Given the description of an element on the screen output the (x, y) to click on. 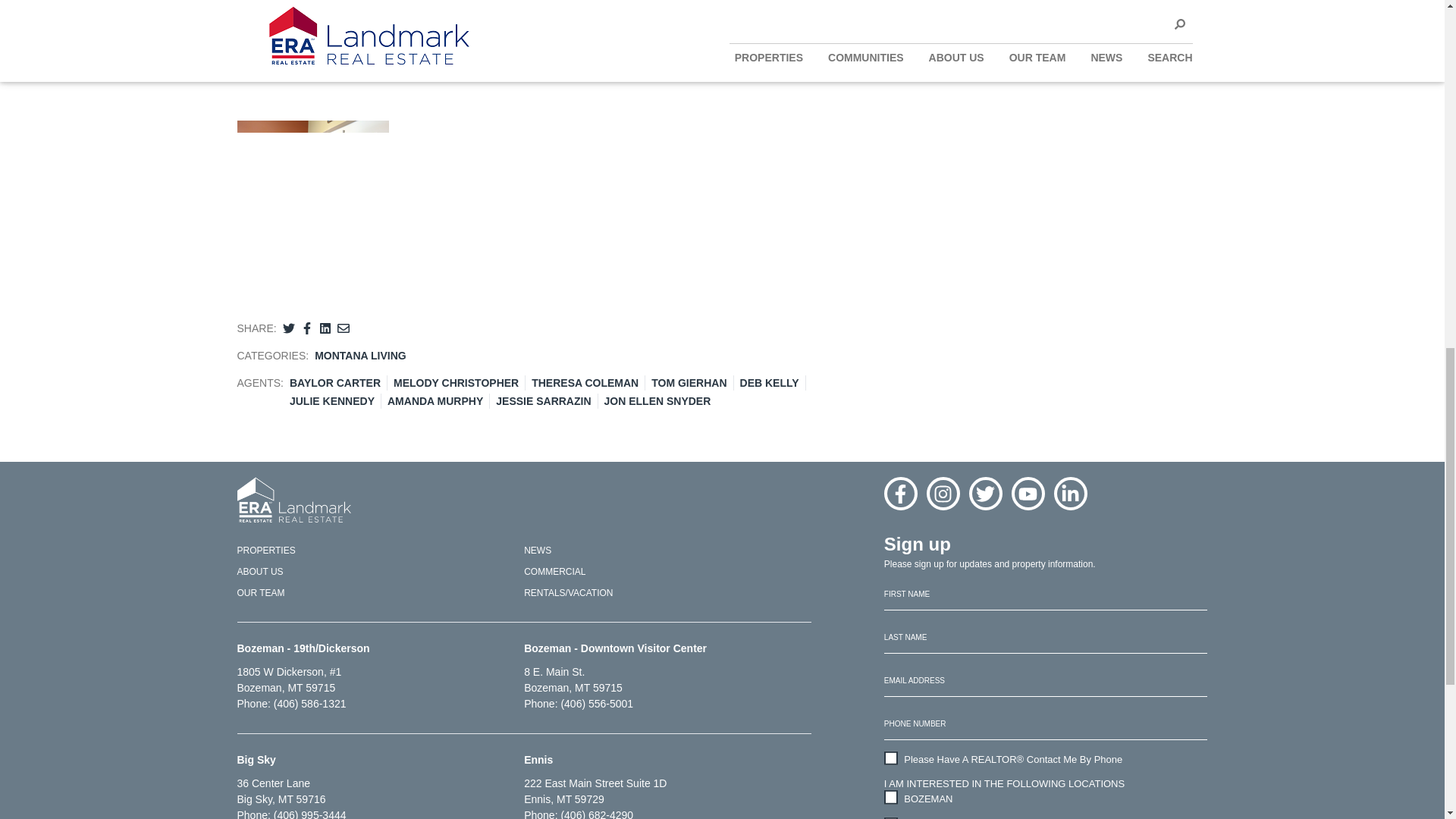
ERA Landmark on Instagram (942, 493)
on (890, 796)
ERA Landmark on Twitter (986, 493)
ERA Landmark on YouTube (1028, 493)
ERA Landmark on Facebook (900, 493)
on (890, 757)
